Given the description of an element on the screen output the (x, y) to click on. 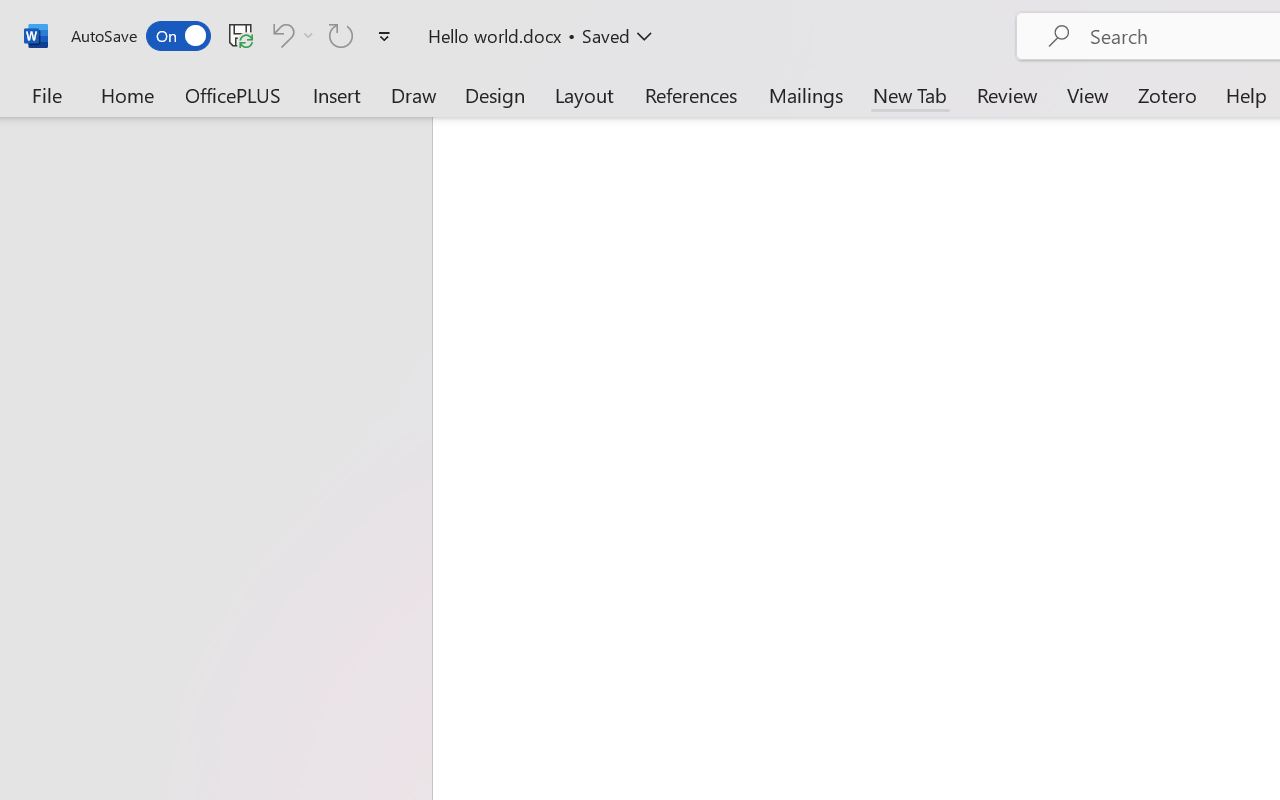
Can't Undo (280, 35)
Insert (337, 94)
View (1087, 94)
Quick Access Toolbar (233, 36)
Can't Undo (290, 35)
Can't Repeat (341, 35)
More Options (308, 35)
File Tab (46, 94)
Design (495, 94)
